Given the description of an element on the screen output the (x, y) to click on. 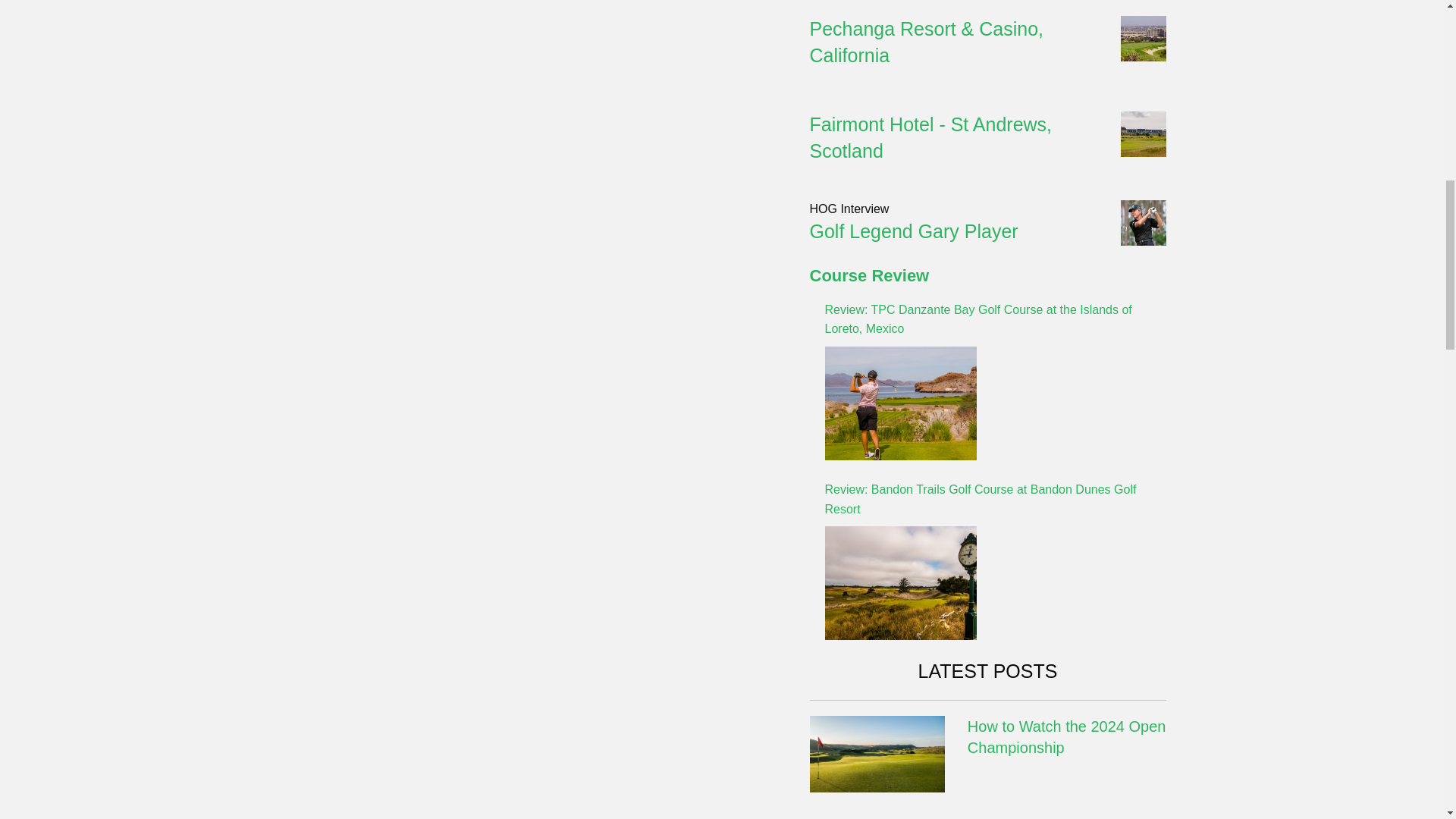
Gary Player Interview (913, 230)
How to Watch the 2024 Open Championship (876, 753)
